Given the description of an element on the screen output the (x, y) to click on. 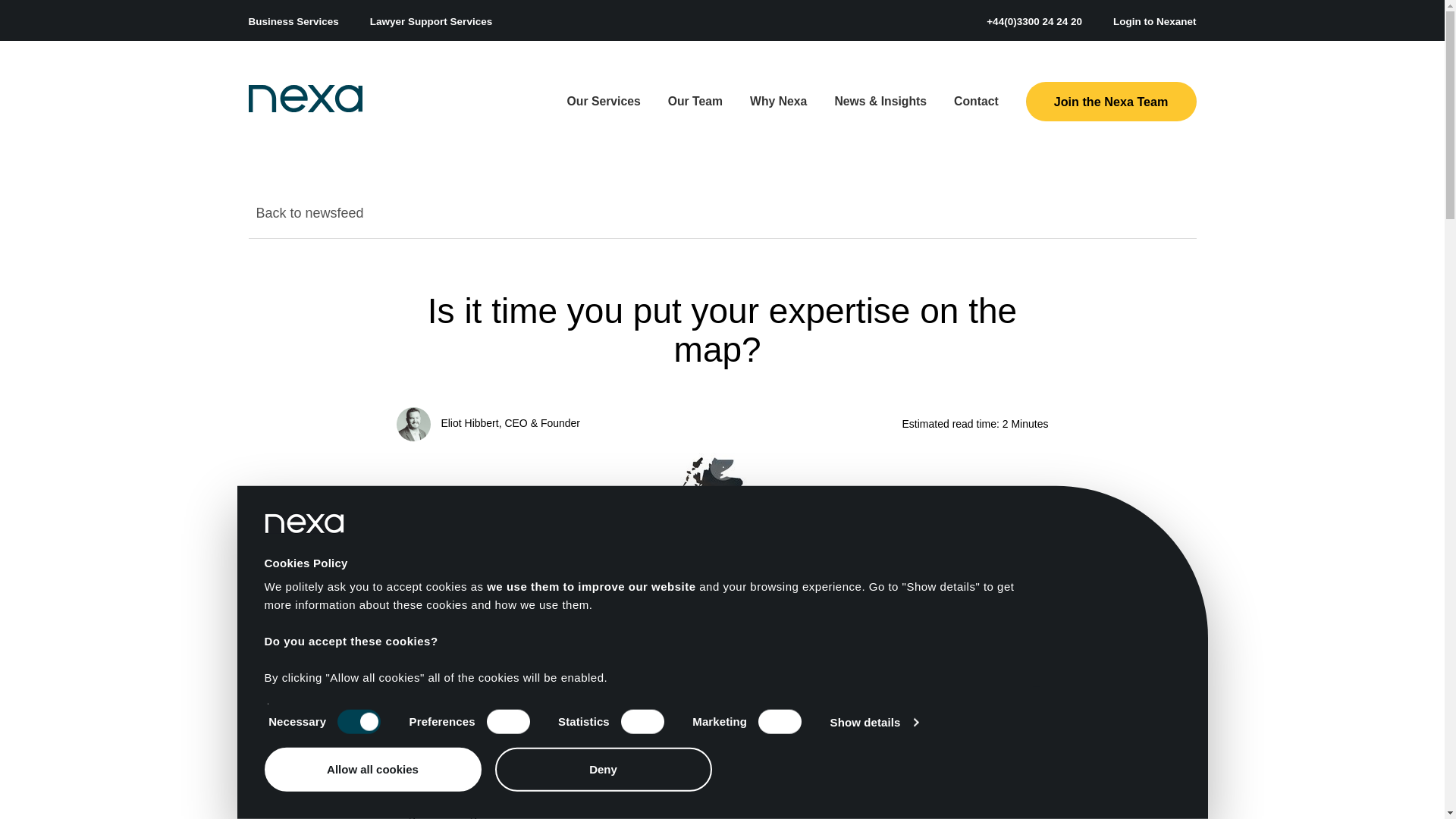
Show details (873, 722)
